Given the description of an element on the screen output the (x, y) to click on. 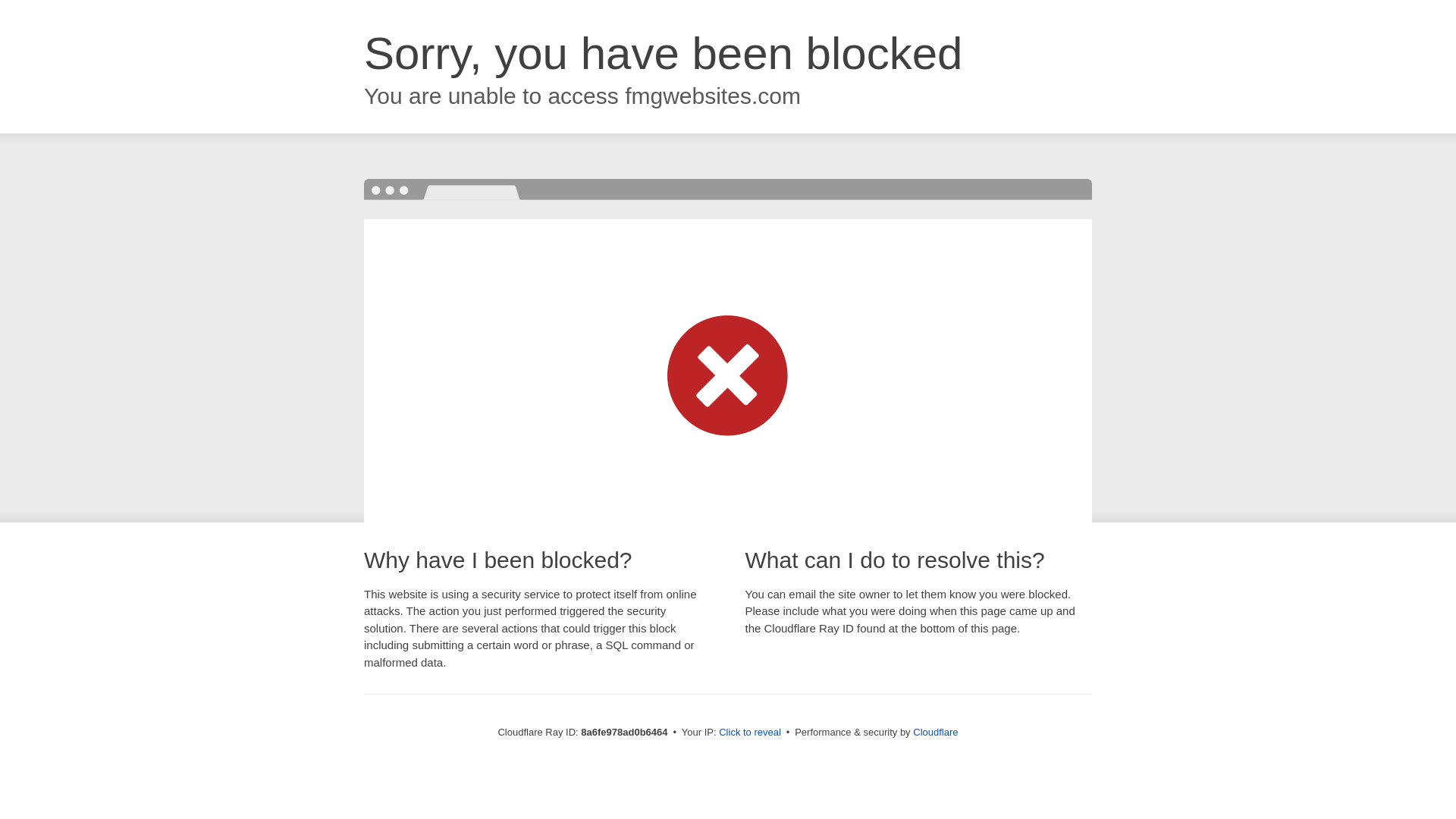
Cloudflare (935, 731)
Click to reveal (749, 732)
